Given the description of an element on the screen output the (x, y) to click on. 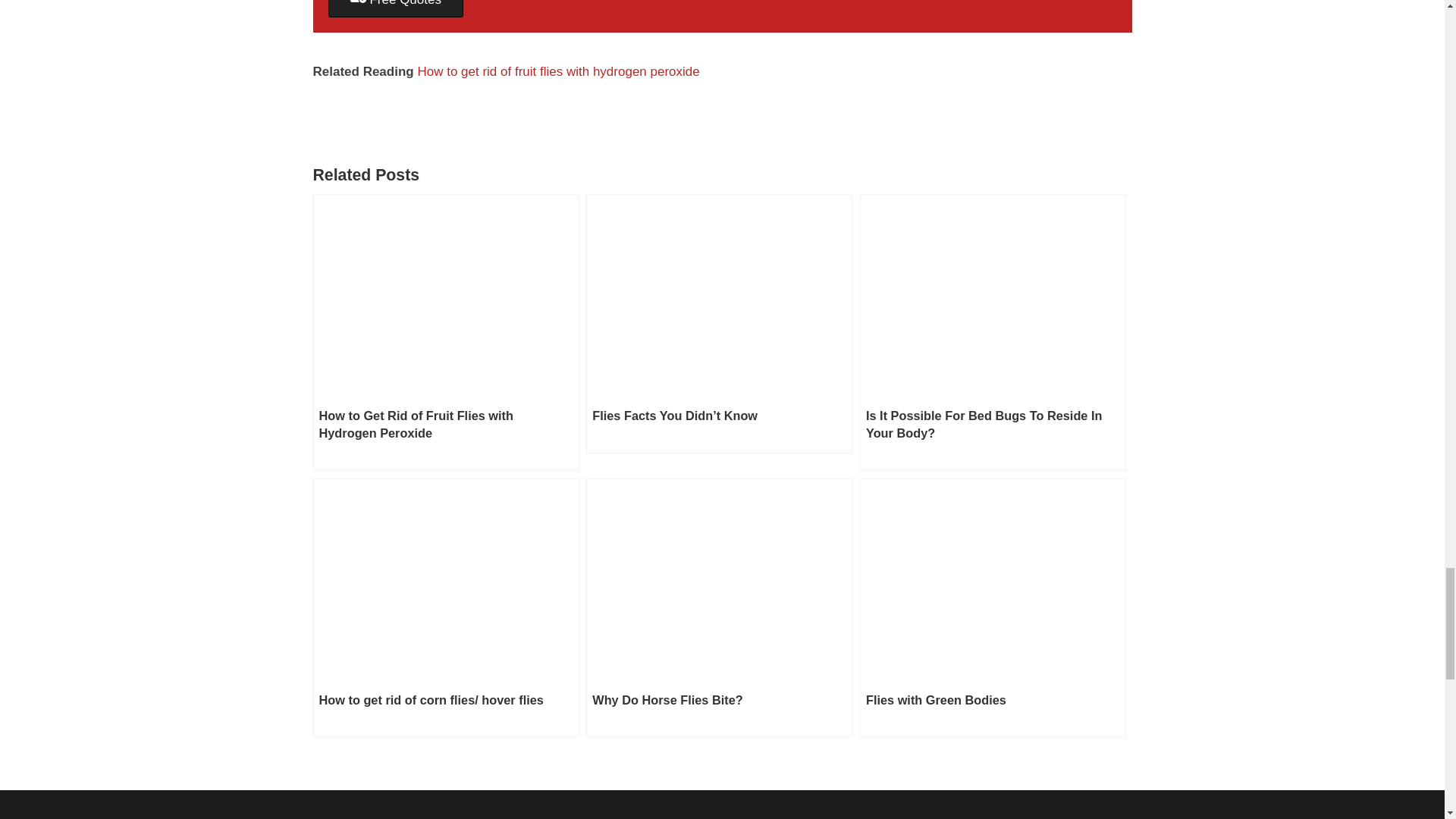
Flies with Green Bodies (992, 607)
Free Quotes (395, 8)
Is It Possible For Bed Bugs To Reside In Your Body? (992, 332)
How to Get Rid of Fruit Flies with Hydrogen Peroxide (445, 332)
Why Do Horse Flies Bite? (718, 607)
